Given the description of an element on the screen output the (x, y) to click on. 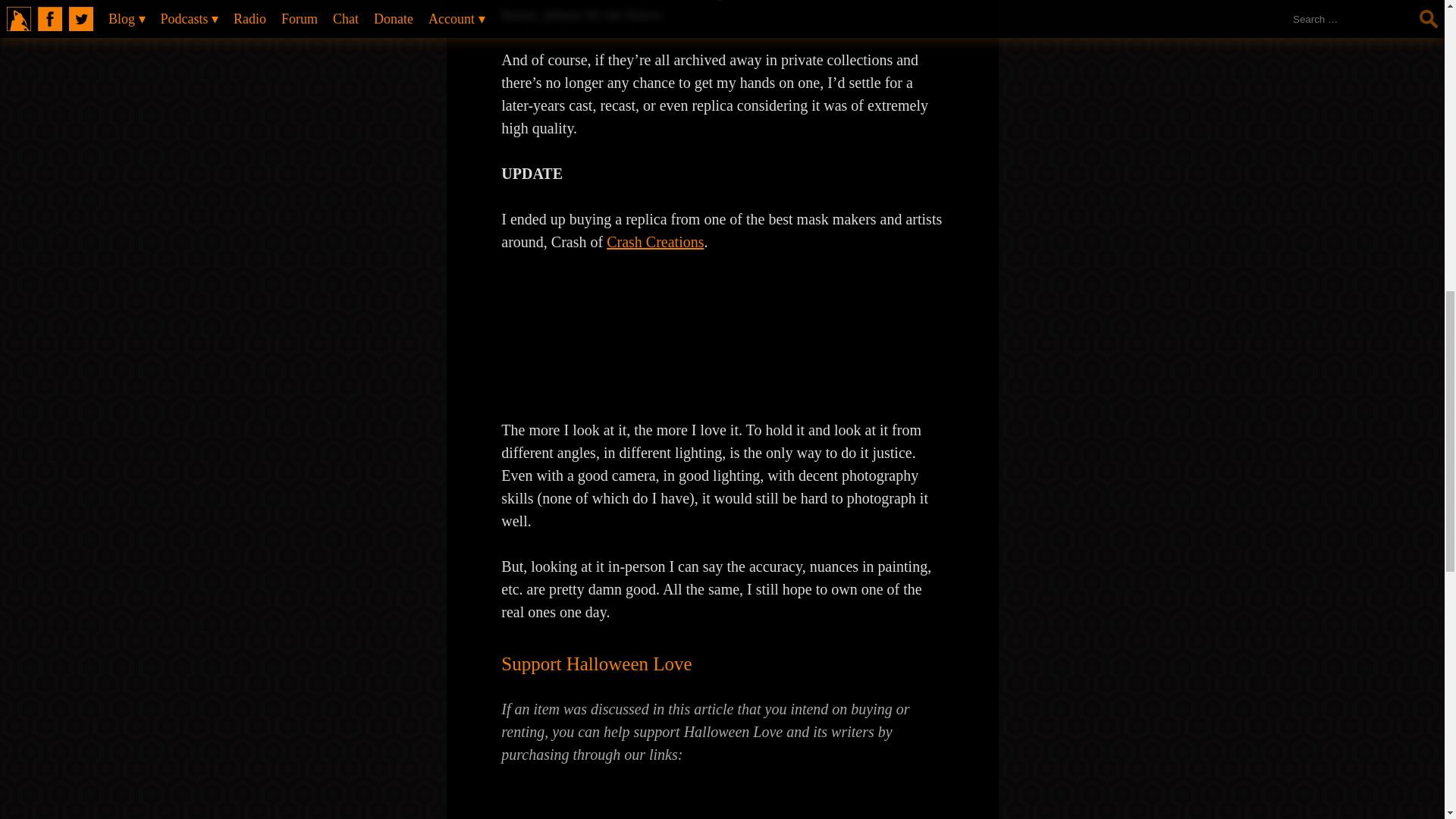
Crash Creations (655, 241)
Jason Lives Replica by Crash Creations (614, 384)
